Given the description of an element on the screen output the (x, y) to click on. 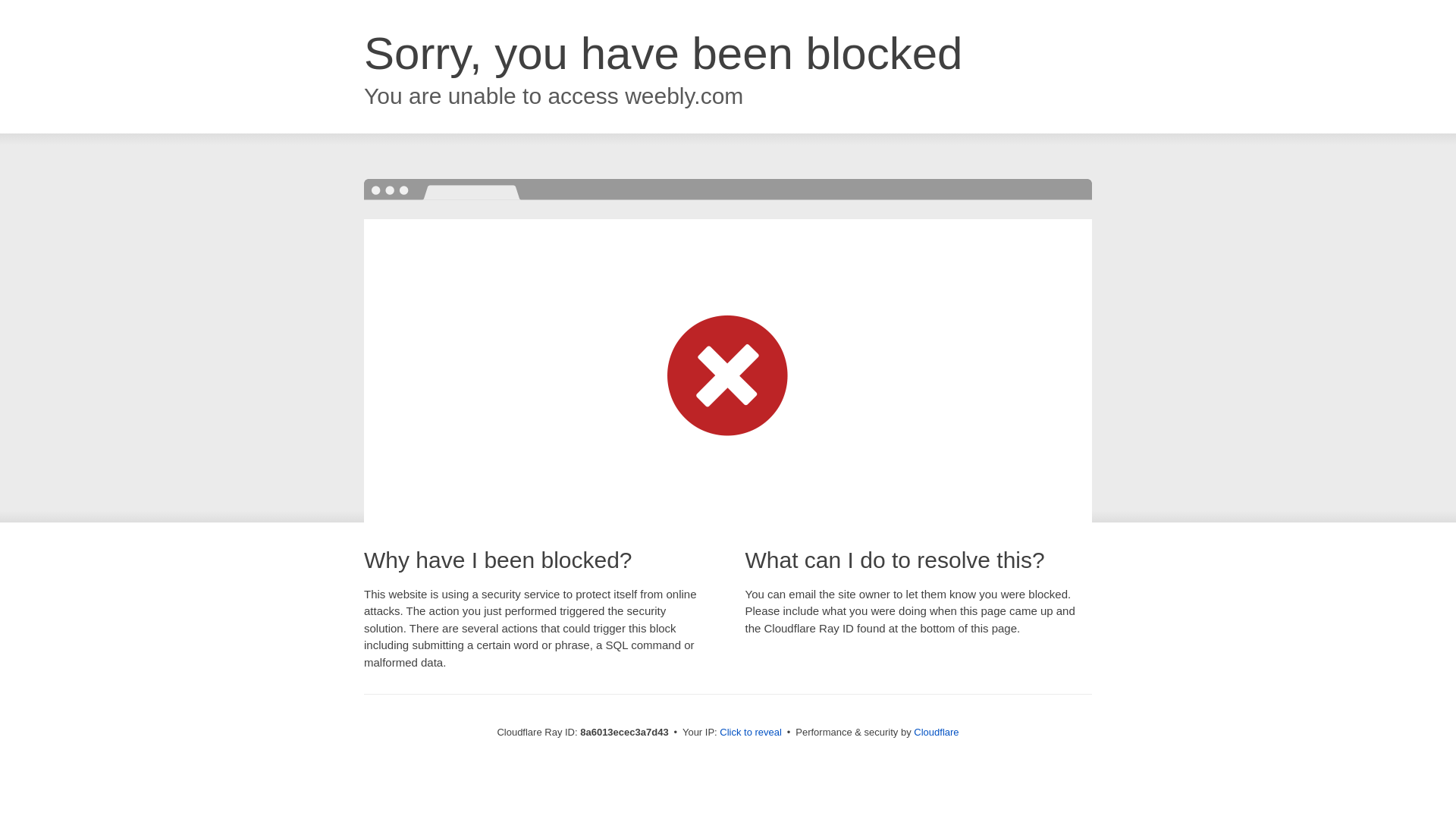
Click to reveal (750, 732)
Cloudflare (936, 731)
